Given the description of an element on the screen output the (x, y) to click on. 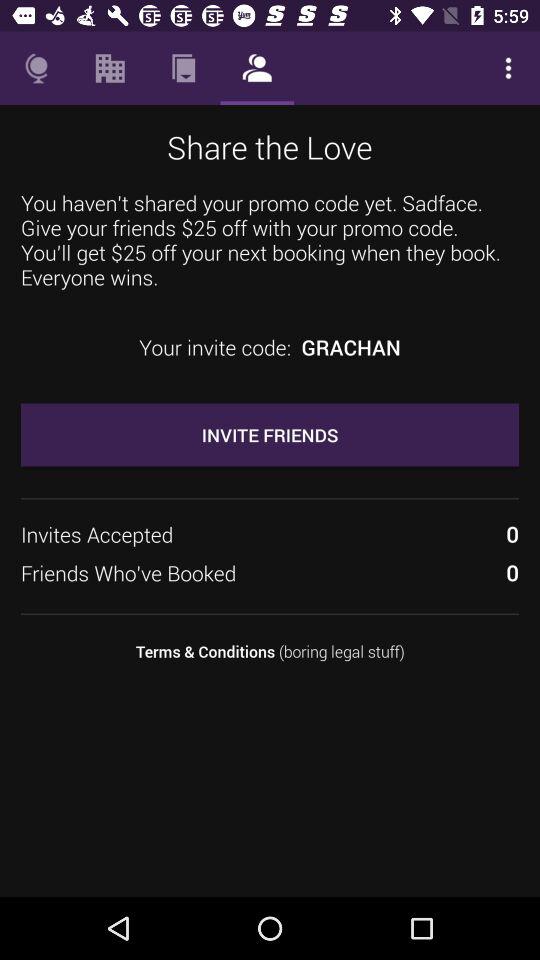
launch item below the your invite code: (270, 434)
